Given the description of an element on the screen output the (x, y) to click on. 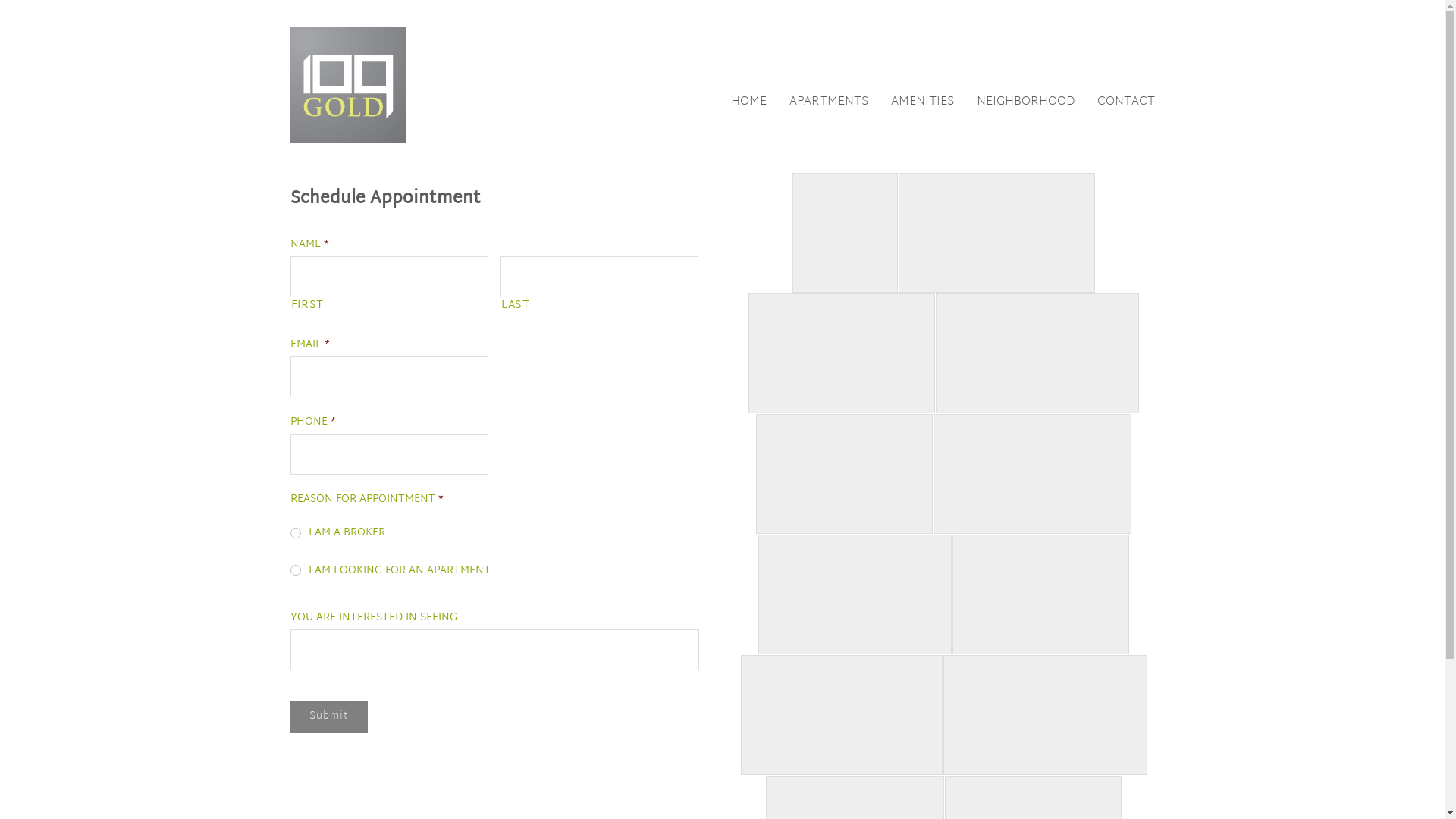
AMENITIES Element type: text (921, 102)
NEIGHBORHOOD Element type: text (1025, 102)
HOME Element type: text (748, 102)
Submit Element type: text (328, 716)
CONTACT Element type: text (1125, 102)
APARTMENTS Element type: text (827, 102)
